Given the description of an element on the screen output the (x, y) to click on. 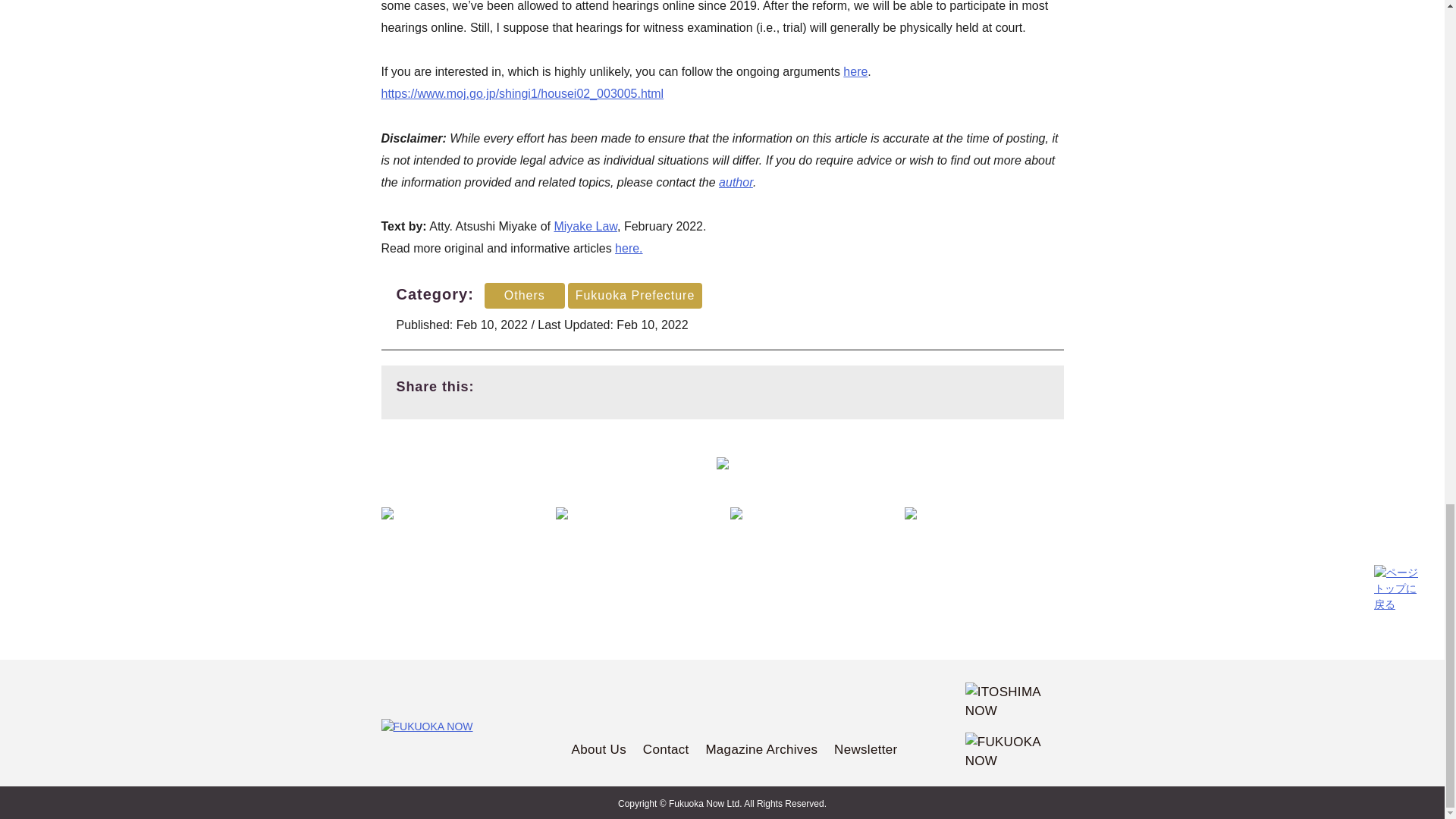
here (855, 71)
Miyake Law (585, 226)
author (735, 182)
